Given the description of an element on the screen output the (x, y) to click on. 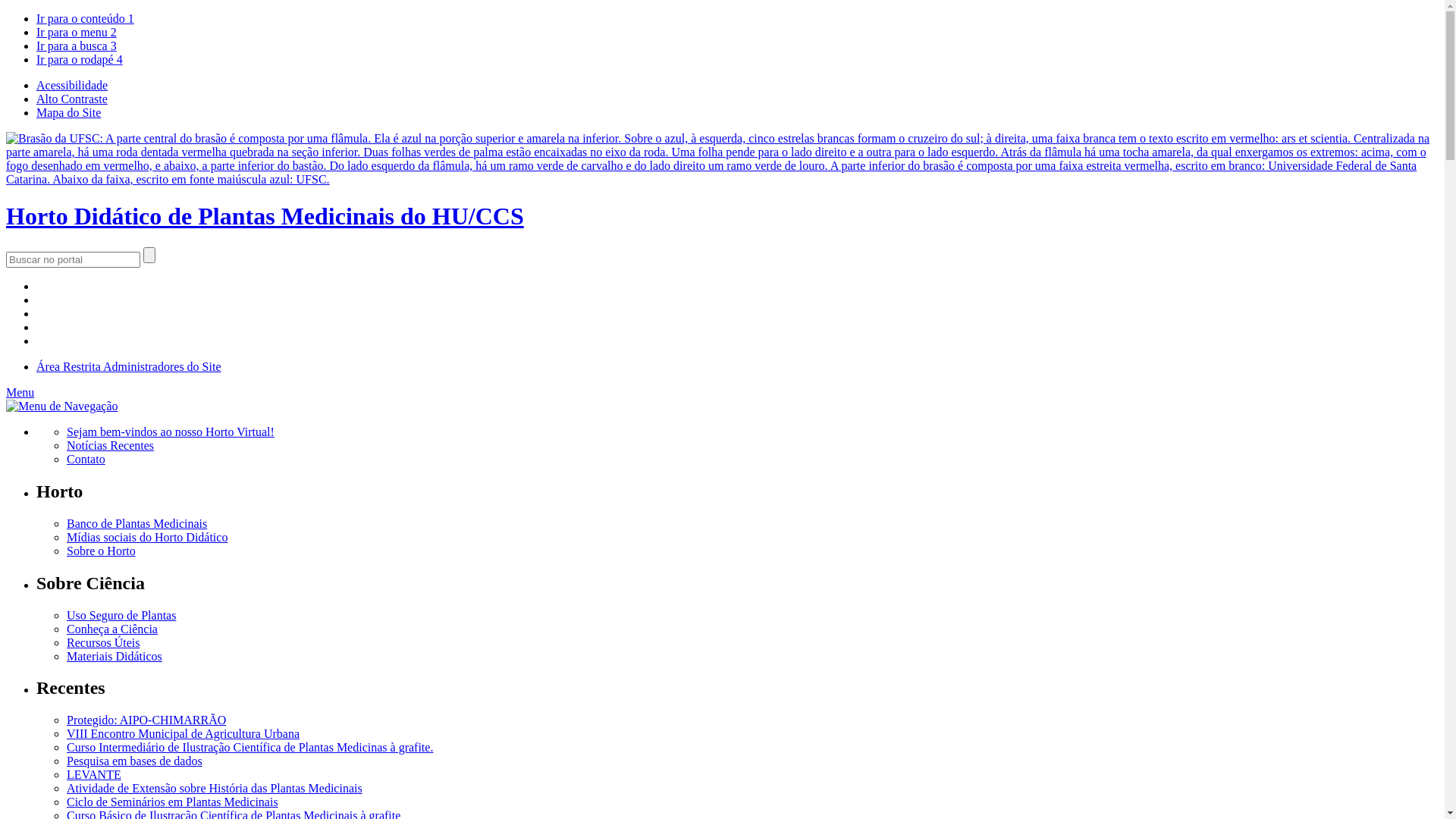
Ir para a busca 3 Element type: text (76, 45)
Ir para o menu 2 Element type: text (76, 31)
Sobre o Horto Element type: text (100, 550)
Sejam bem-vindos ao nosso Horto Virtual! Element type: text (170, 431)
Acessibilidade Element type: text (71, 84)
Administradores do Site Element type: text (162, 366)
Alto Contraste Element type: text (71, 98)
Banco de Plantas Medicinais Element type: text (136, 523)
Menu Element type: text (20, 391)
VIII Encontro Municipal de Agricultura Urbana Element type: text (182, 733)
Pesquisa em bases de dados Element type: text (134, 760)
Mapa do Site Element type: text (68, 112)
Uso Seguro de Plantas Element type: text (120, 614)
LEVANTE Element type: text (93, 774)
Contato Element type: text (85, 458)
